Given the description of an element on the screen output the (x, y) to click on. 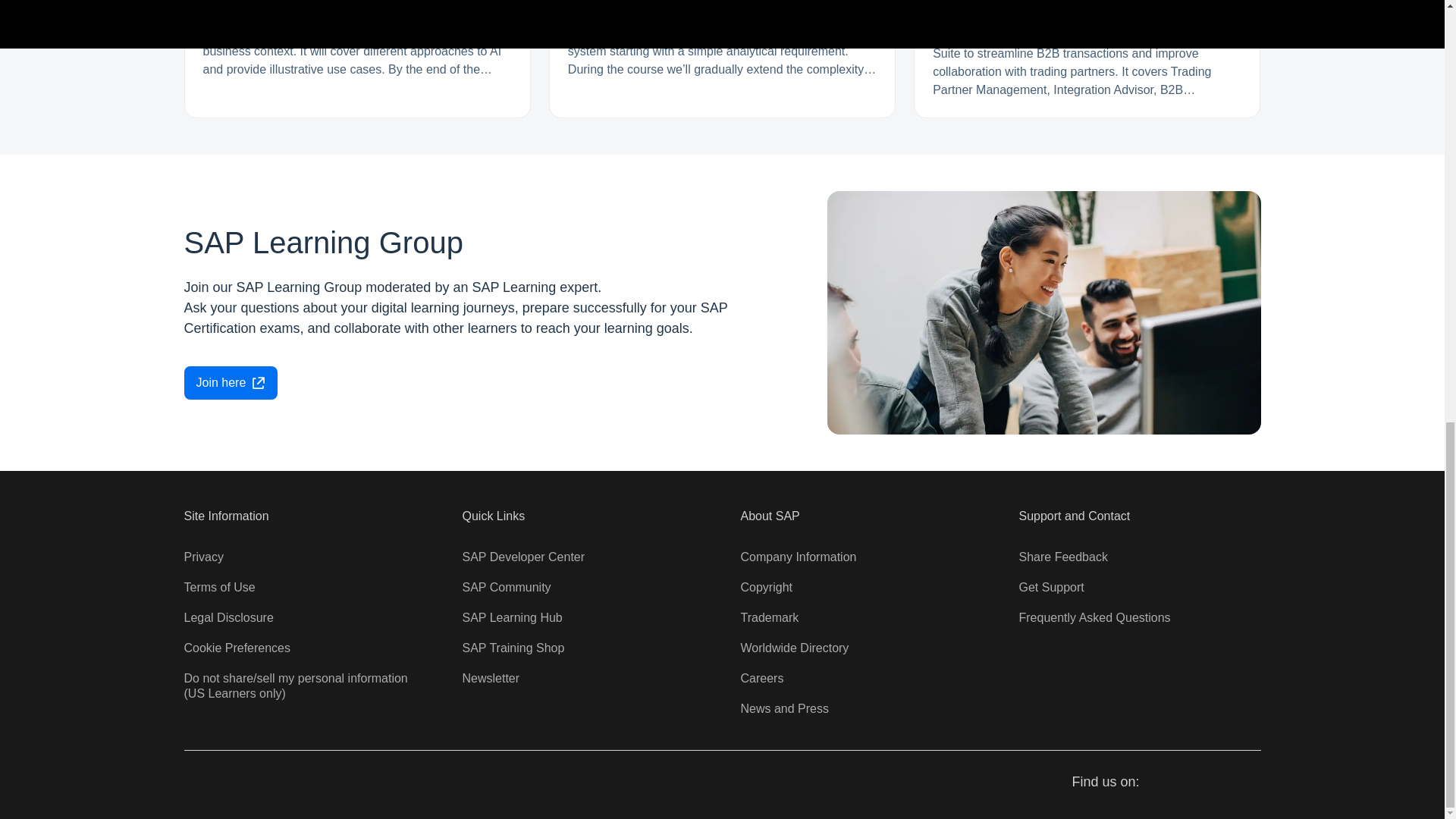
SAP Training Shop (513, 647)
SAP Developer Center (524, 556)
Company Information (797, 556)
Trademark (768, 617)
SAP Twitter (1193, 782)
Newsletter (491, 677)
Join here (230, 382)
Share Feedback (1063, 556)
Visit home page (207, 784)
Get Support (1051, 586)
